Given the description of an element on the screen output the (x, y) to click on. 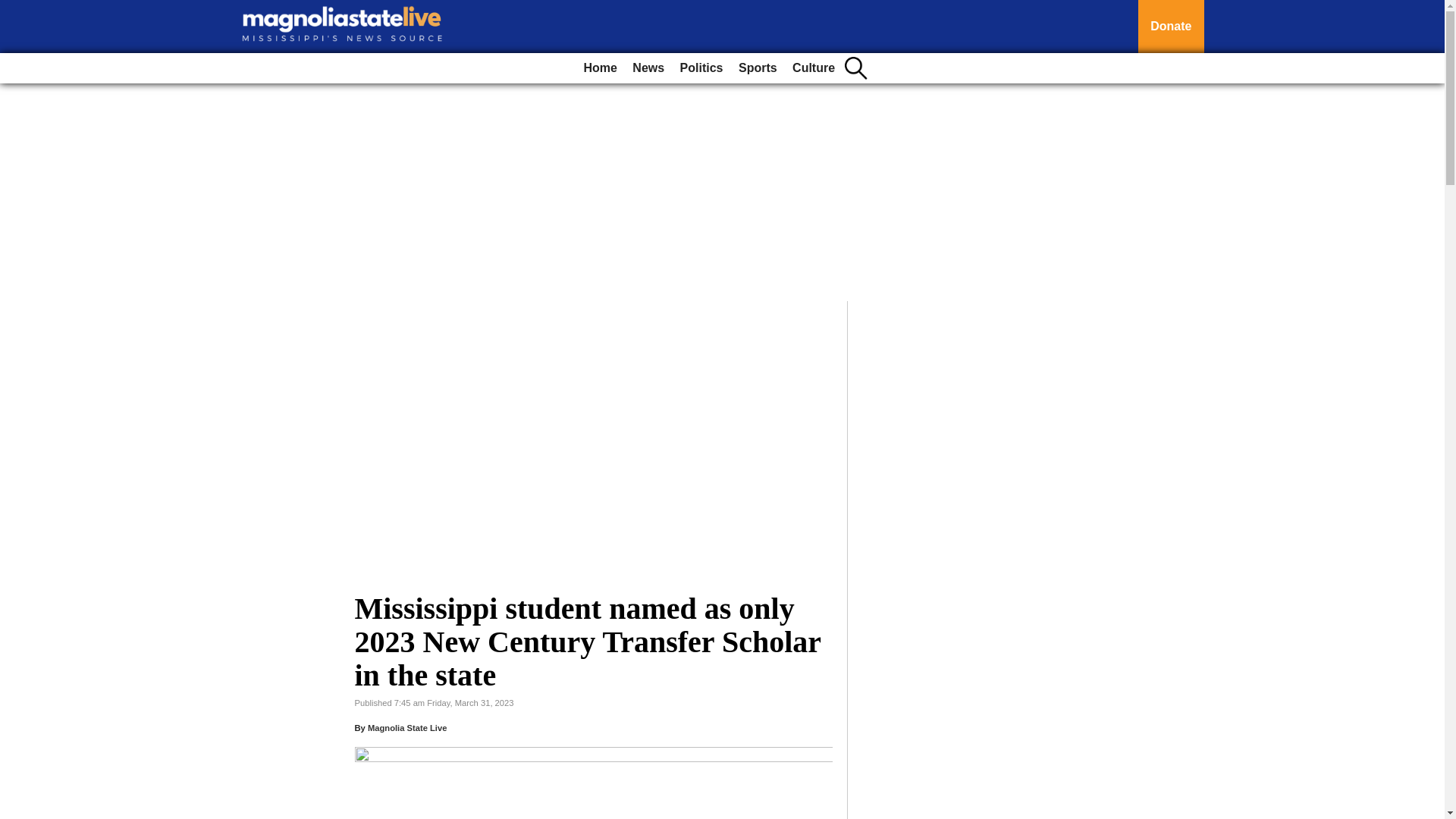
Magnolia State Live (407, 727)
Sports (757, 68)
News (647, 68)
Go (13, 9)
Donate (1171, 26)
Politics (701, 68)
Culture (813, 68)
Home (599, 68)
